Given the description of an element on the screen output the (x, y) to click on. 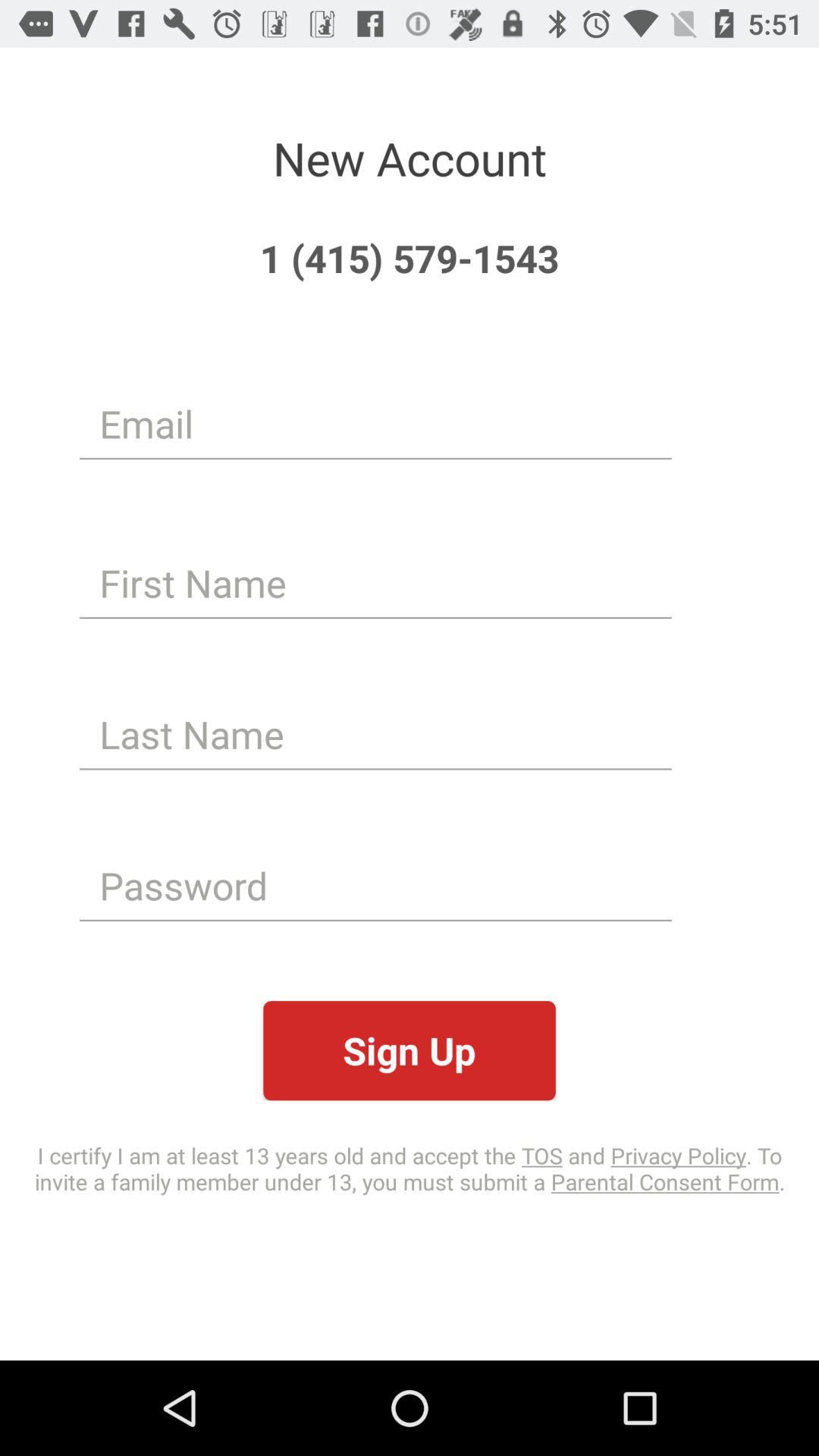
turn off the sign up (409, 1050)
